Given the description of an element on the screen output the (x, y) to click on. 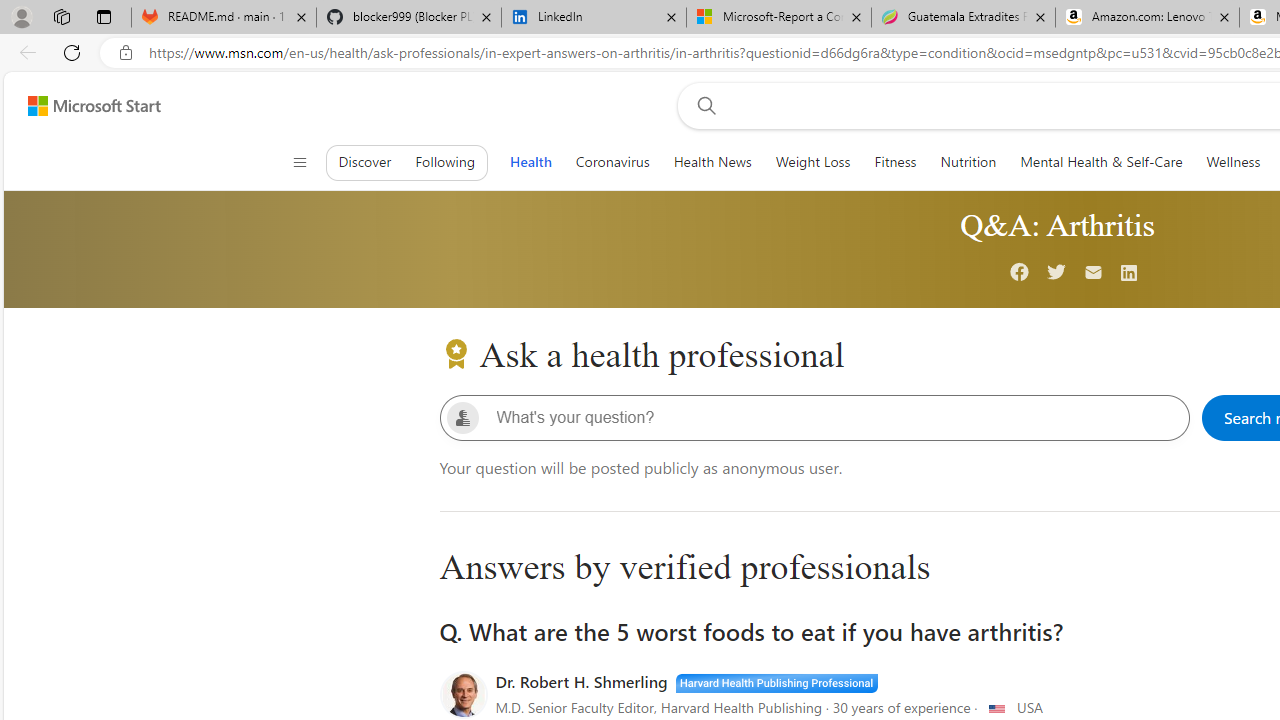
Harvard health publishing professional (776, 681)
Wellness (1233, 162)
Facebook (1019, 273)
Nutrition (968, 161)
What's your question? (831, 417)
Wellness (1233, 161)
Twitter (1057, 273)
Mail (1094, 273)
